Given the description of an element on the screen output the (x, y) to click on. 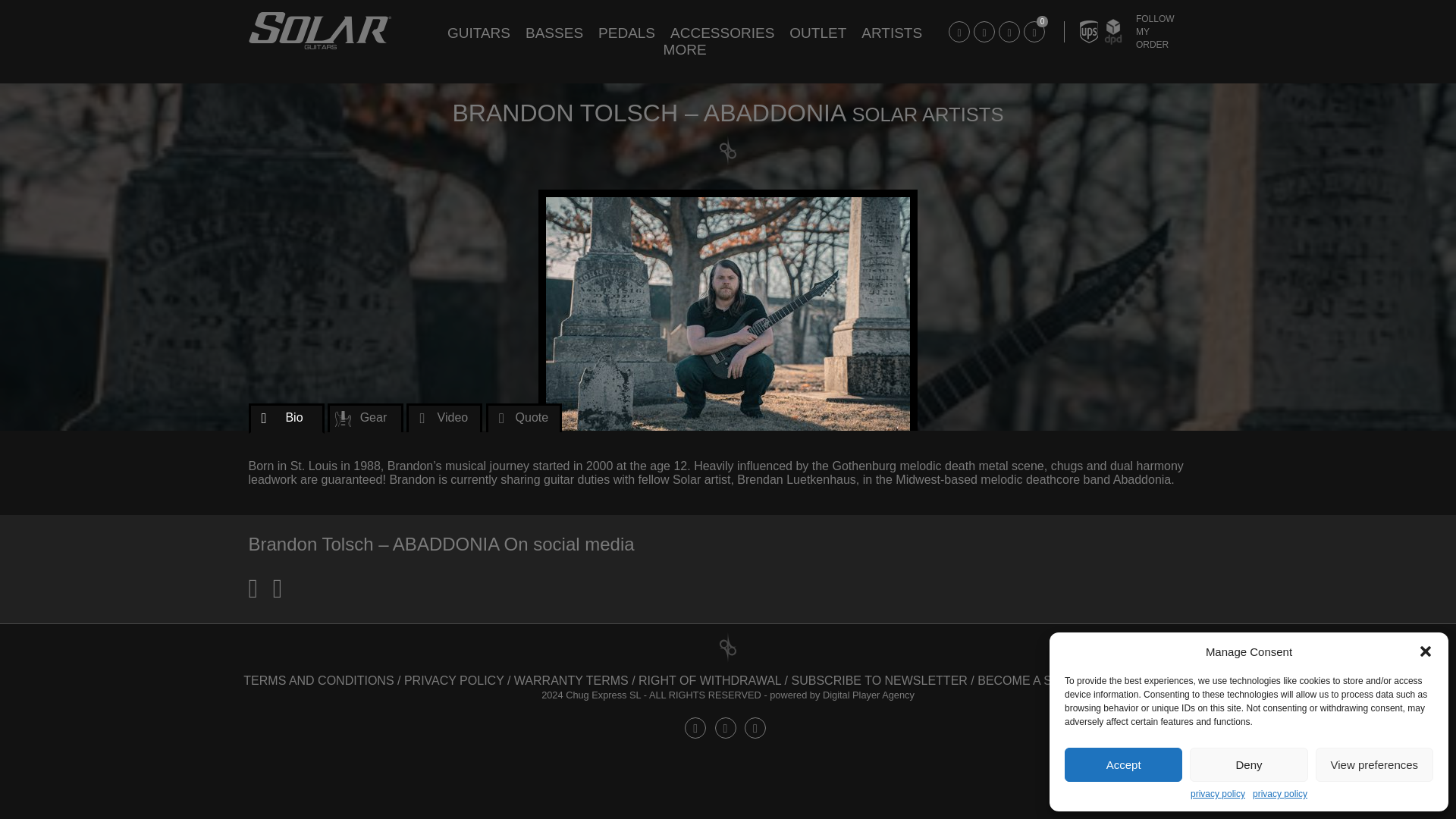
GUITARS (478, 32)
